Given the description of an element on the screen output the (x, y) to click on. 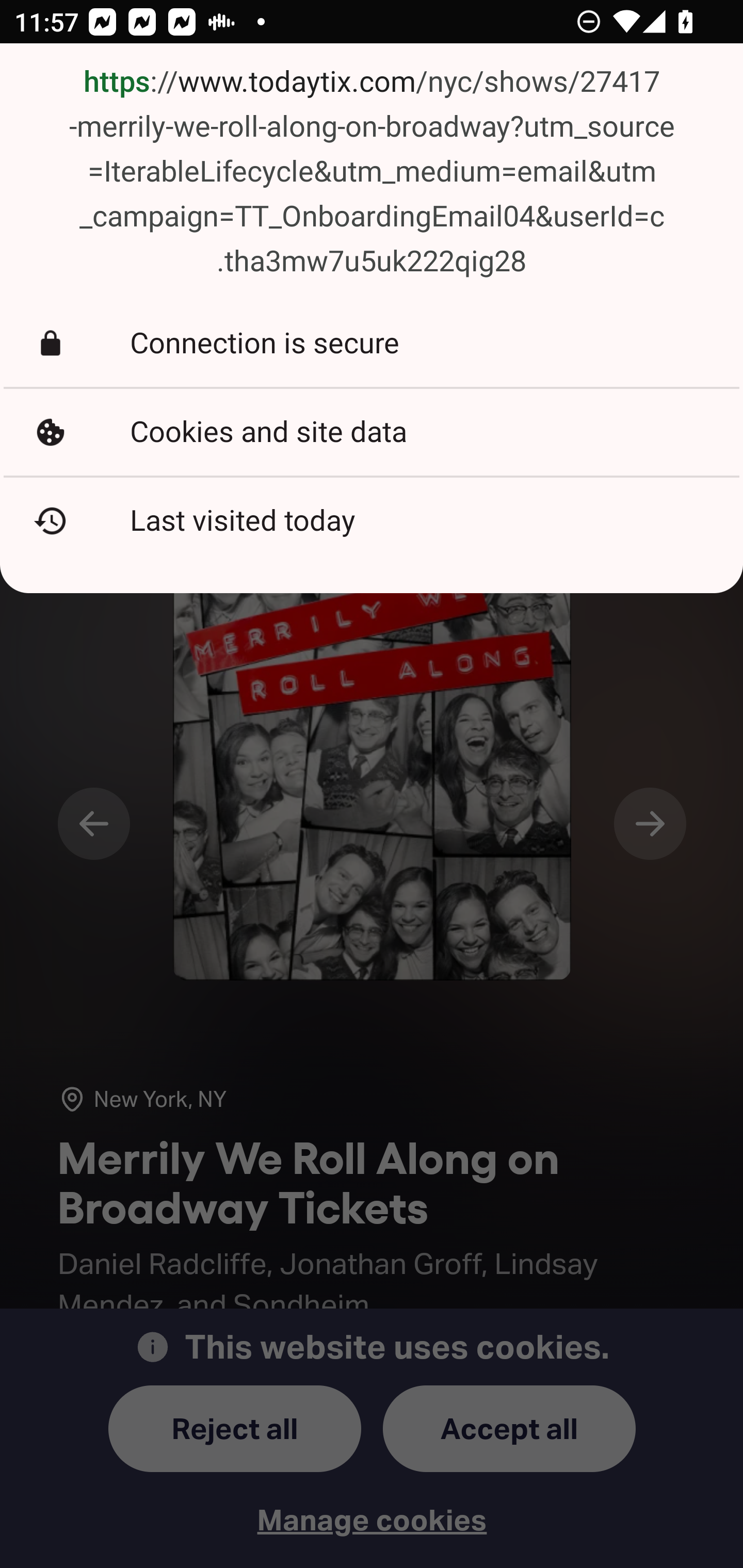
Connection is secure (371, 343)
Cookies and site data (371, 431)
Last visited today (371, 521)
